Given the description of an element on the screen output the (x, y) to click on. 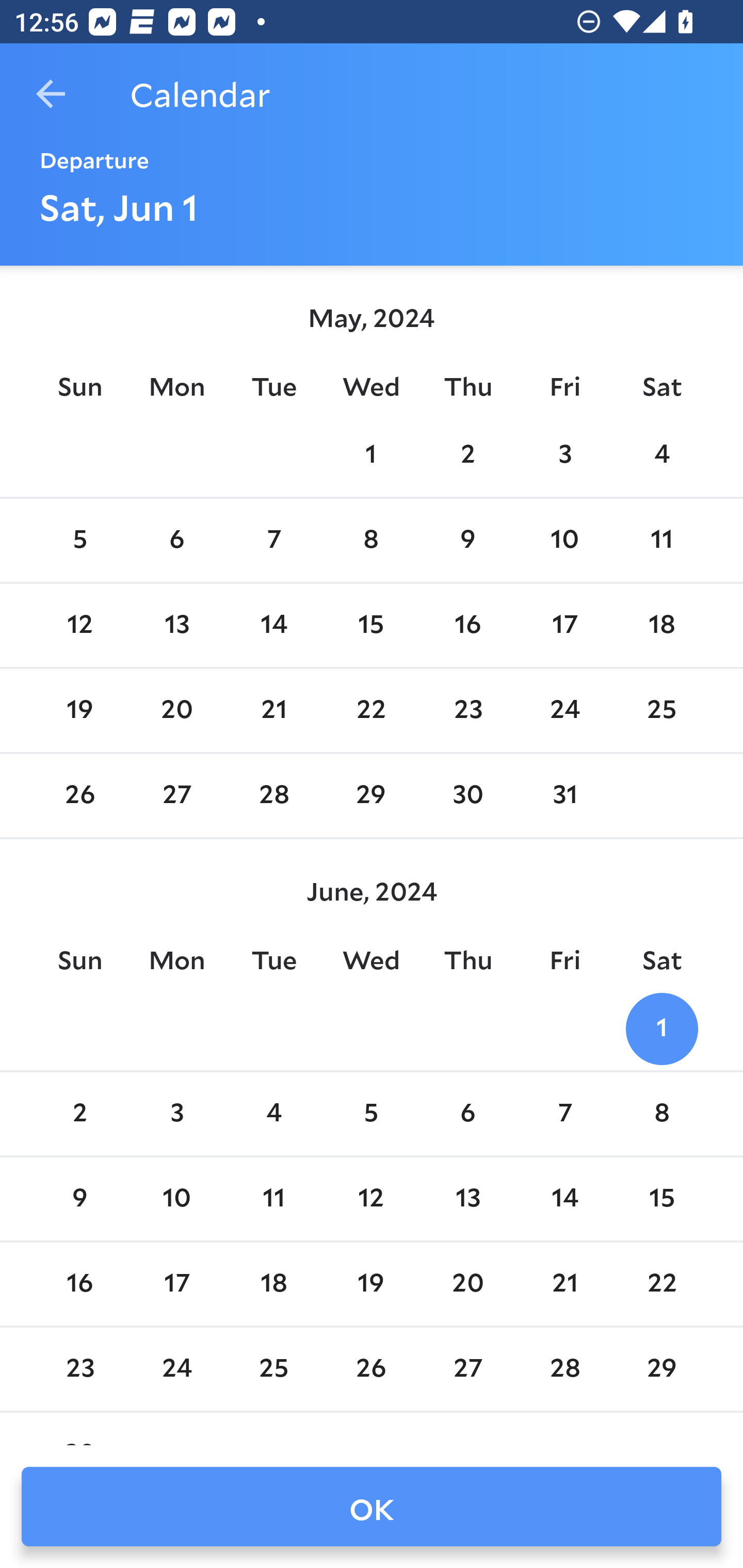
Navigate up (50, 93)
1 (371, 454)
2 (467, 454)
3 (565, 454)
4 (661, 454)
5 (79, 540)
6 (177, 540)
7 (273, 540)
8 (371, 540)
9 (467, 540)
10 (565, 540)
11 (661, 540)
12 (79, 625)
13 (177, 625)
14 (273, 625)
15 (371, 625)
16 (467, 625)
17 (565, 625)
18 (661, 625)
19 (79, 710)
20 (177, 710)
21 (273, 710)
22 (371, 710)
23 (467, 710)
24 (565, 710)
25 (661, 710)
26 (79, 796)
27 (177, 796)
28 (273, 796)
29 (371, 796)
30 (467, 796)
31 (565, 796)
1 (661, 1028)
2 (79, 1114)
3 (177, 1114)
4 (273, 1114)
5 (371, 1114)
6 (467, 1114)
7 (565, 1114)
8 (661, 1114)
9 (79, 1199)
10 (177, 1199)
11 (273, 1199)
12 (371, 1199)
13 (467, 1199)
14 (565, 1199)
15 (661, 1199)
16 (79, 1284)
17 (177, 1284)
18 (273, 1284)
19 (371, 1284)
20 (467, 1284)
21 (565, 1284)
22 (661, 1284)
23 (79, 1368)
24 (177, 1368)
25 (273, 1368)
26 (371, 1368)
27 (467, 1368)
28 (565, 1368)
29 (661, 1368)
OK (371, 1506)
